Given the description of an element on the screen output the (x, y) to click on. 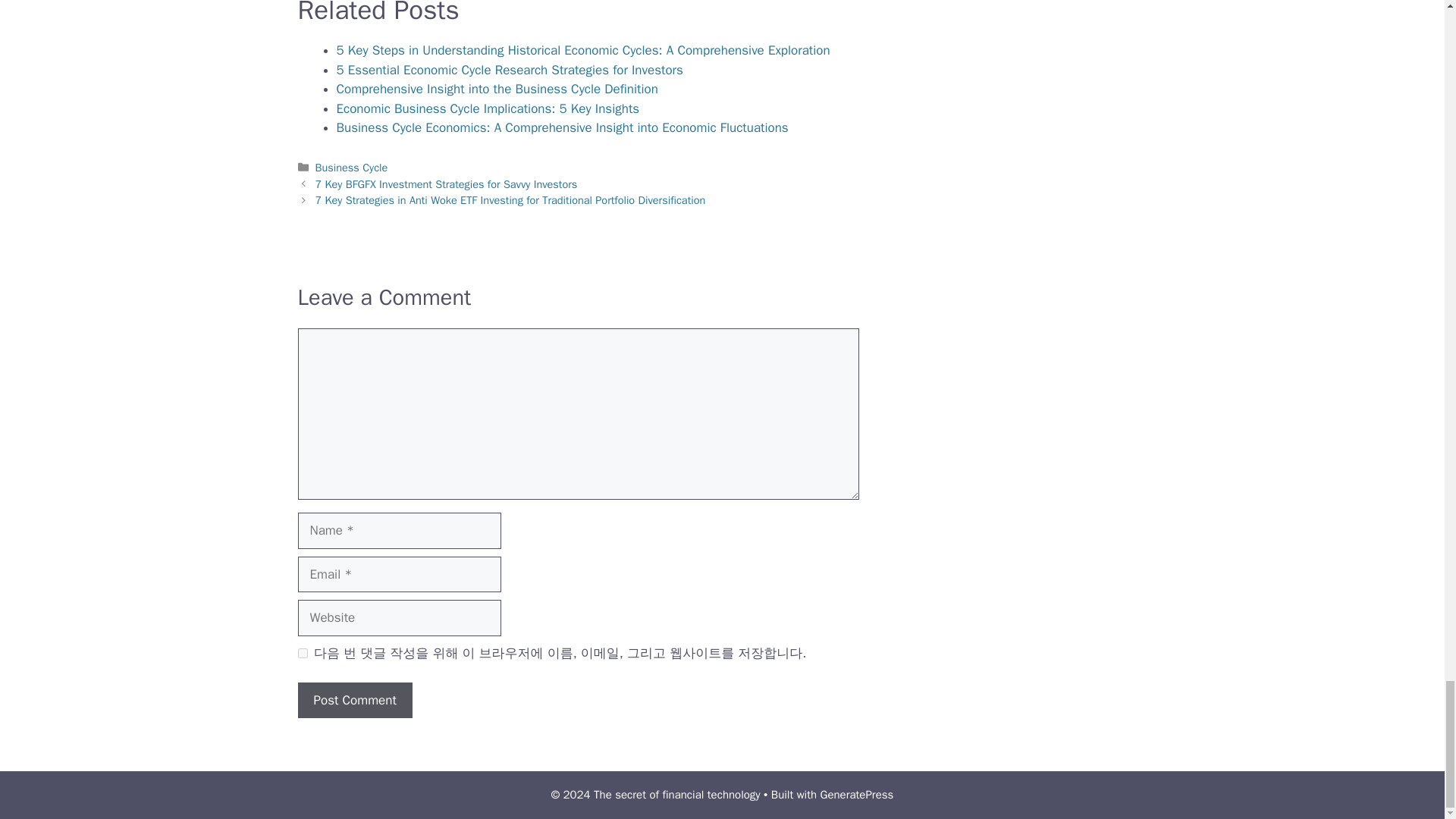
5 Essential Economic Cycle Research Strategies for Investors (509, 69)
Business Cycle (351, 167)
Economic Business Cycle Implications: 5 Key Insights (488, 108)
Comprehensive Insight into the Business Cycle Definition (497, 89)
yes (302, 653)
Post Comment (354, 700)
